Given the description of an element on the screen output the (x, y) to click on. 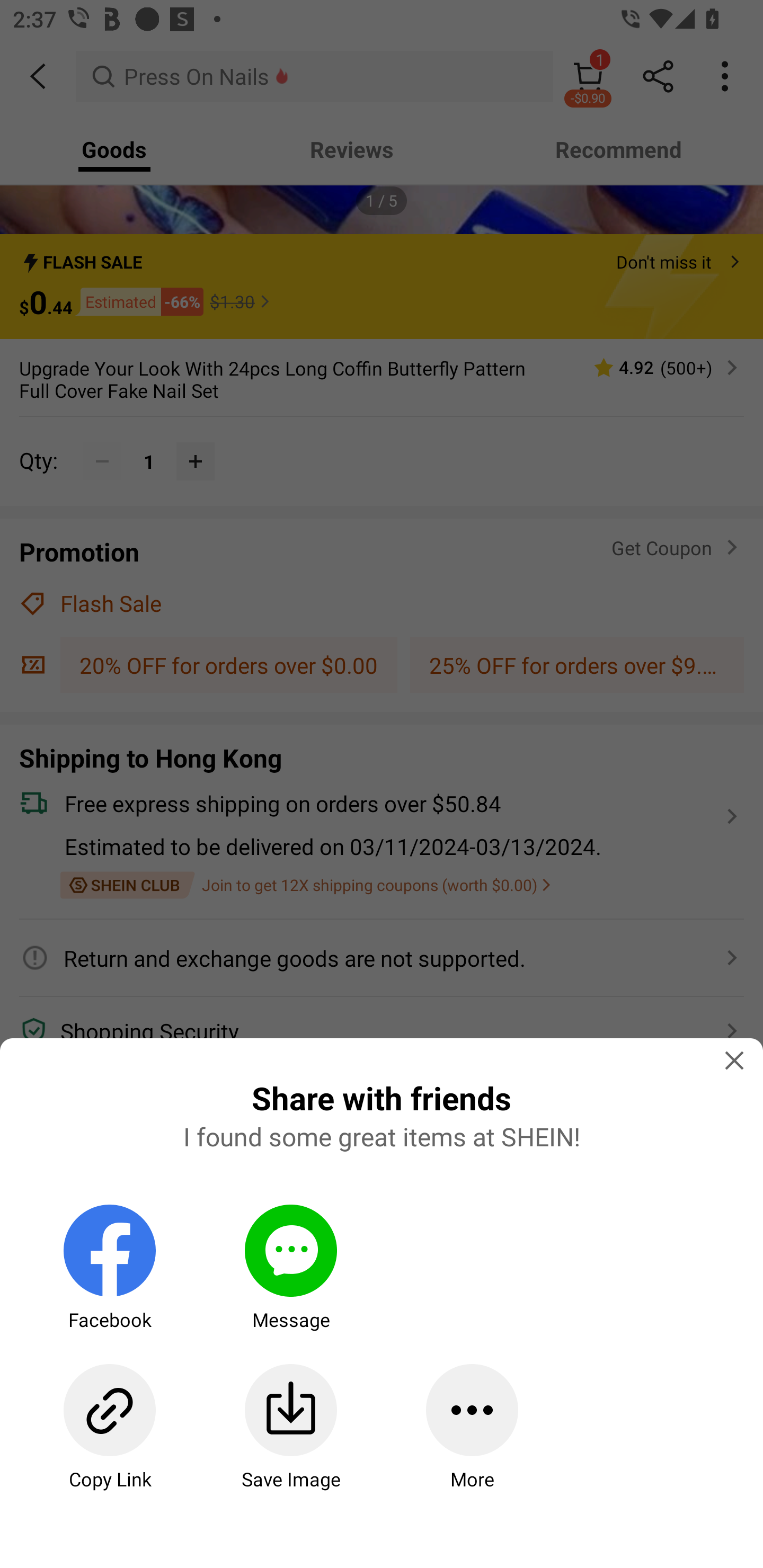
Facebook (109, 1268)
Message (290, 1268)
Copy Link (109, 1427)
Save Image (290, 1427)
More (472, 1427)
